Given the description of an element on the screen output the (x, y) to click on. 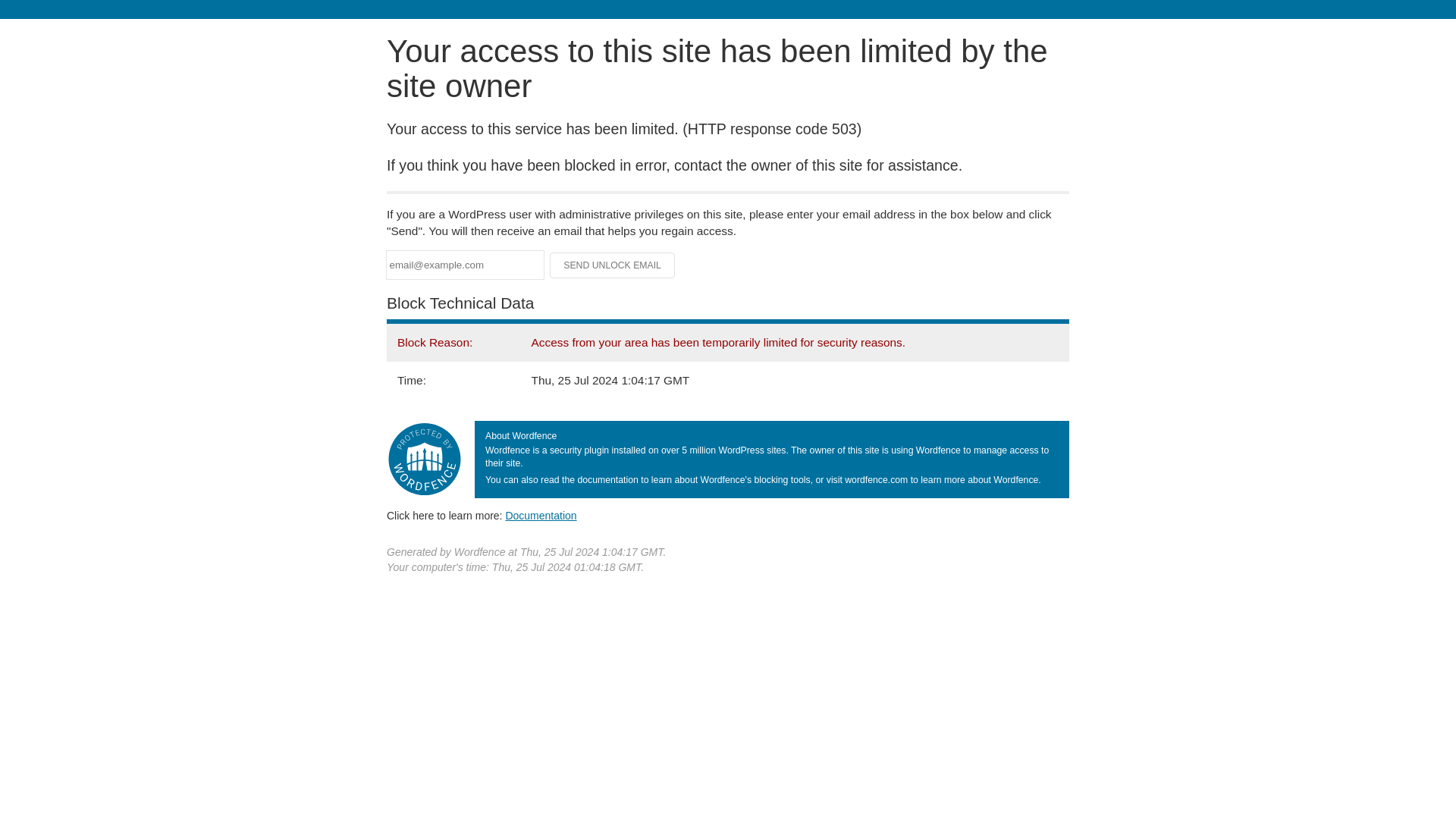
Send Unlock Email (612, 265)
Send Unlock Email (612, 265)
Documentation (540, 515)
